Given the description of an element on the screen output the (x, y) to click on. 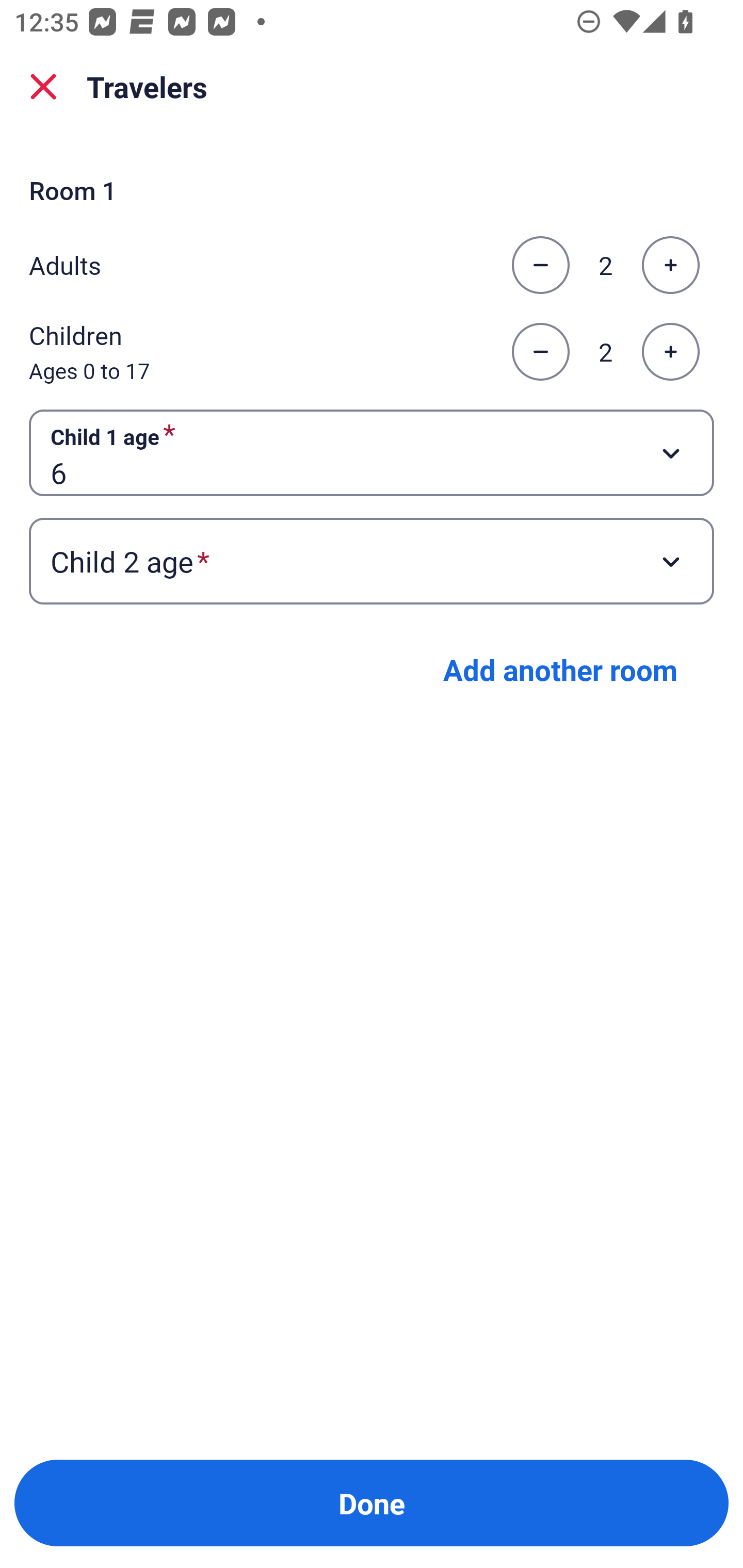
close (43, 86)
Decrease the number of adults (540, 264)
Increase the number of adults (670, 264)
Decrease the number of children (540, 351)
Increase the number of children (670, 351)
Child 1 age required Button 6 (371, 452)
Child 2 age required Button (371, 561)
Add another room (560, 669)
Done (371, 1502)
